Given the description of an element on the screen output the (x, y) to click on. 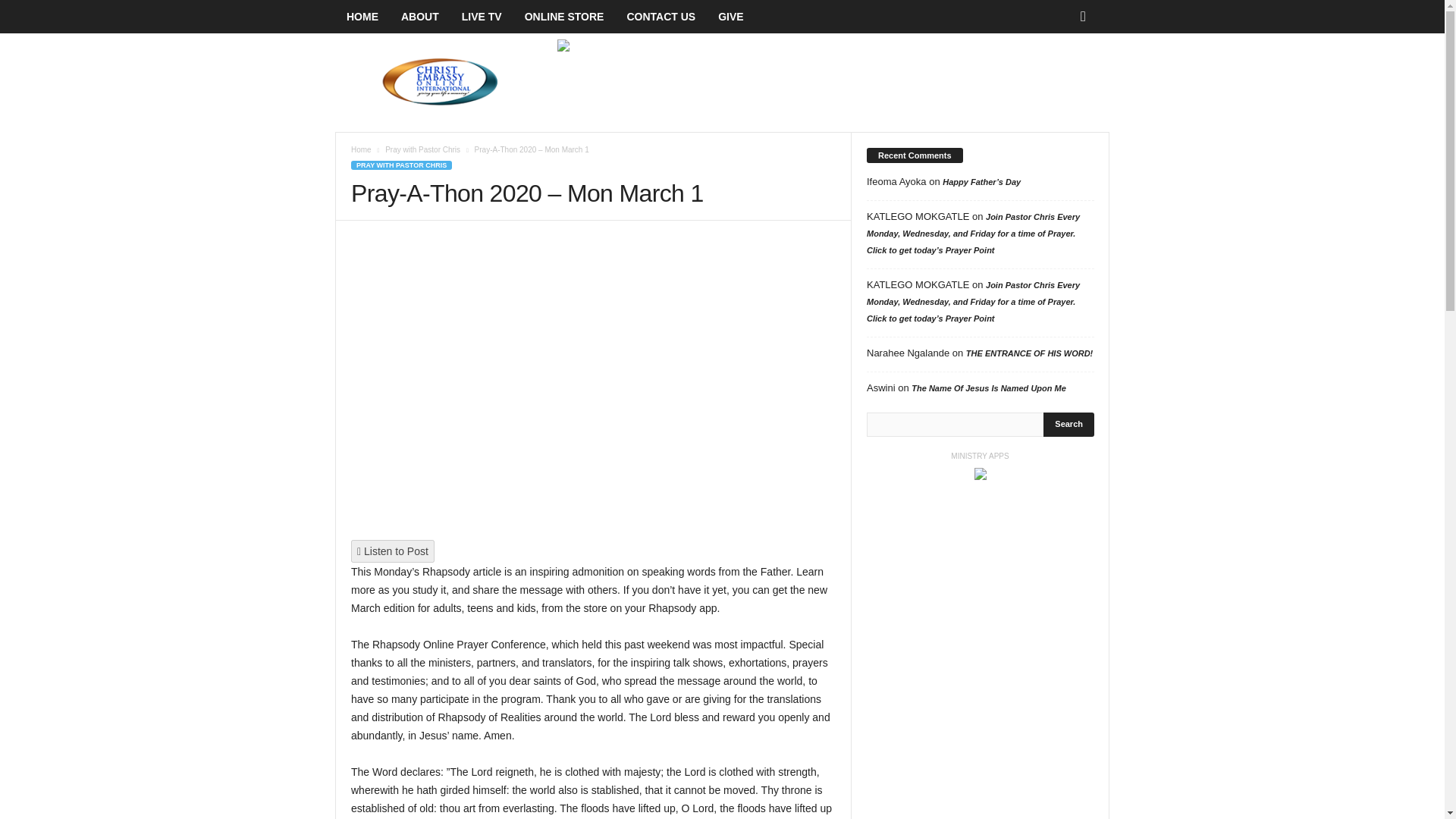
Search (1068, 424)
View all posts in Pray with Pastor Chris (422, 149)
LIVE TV (481, 16)
HOME (362, 16)
ONLINE STORE (564, 16)
ABOUT (419, 16)
CONTACT US (660, 16)
